Given the description of an element on the screen output the (x, y) to click on. 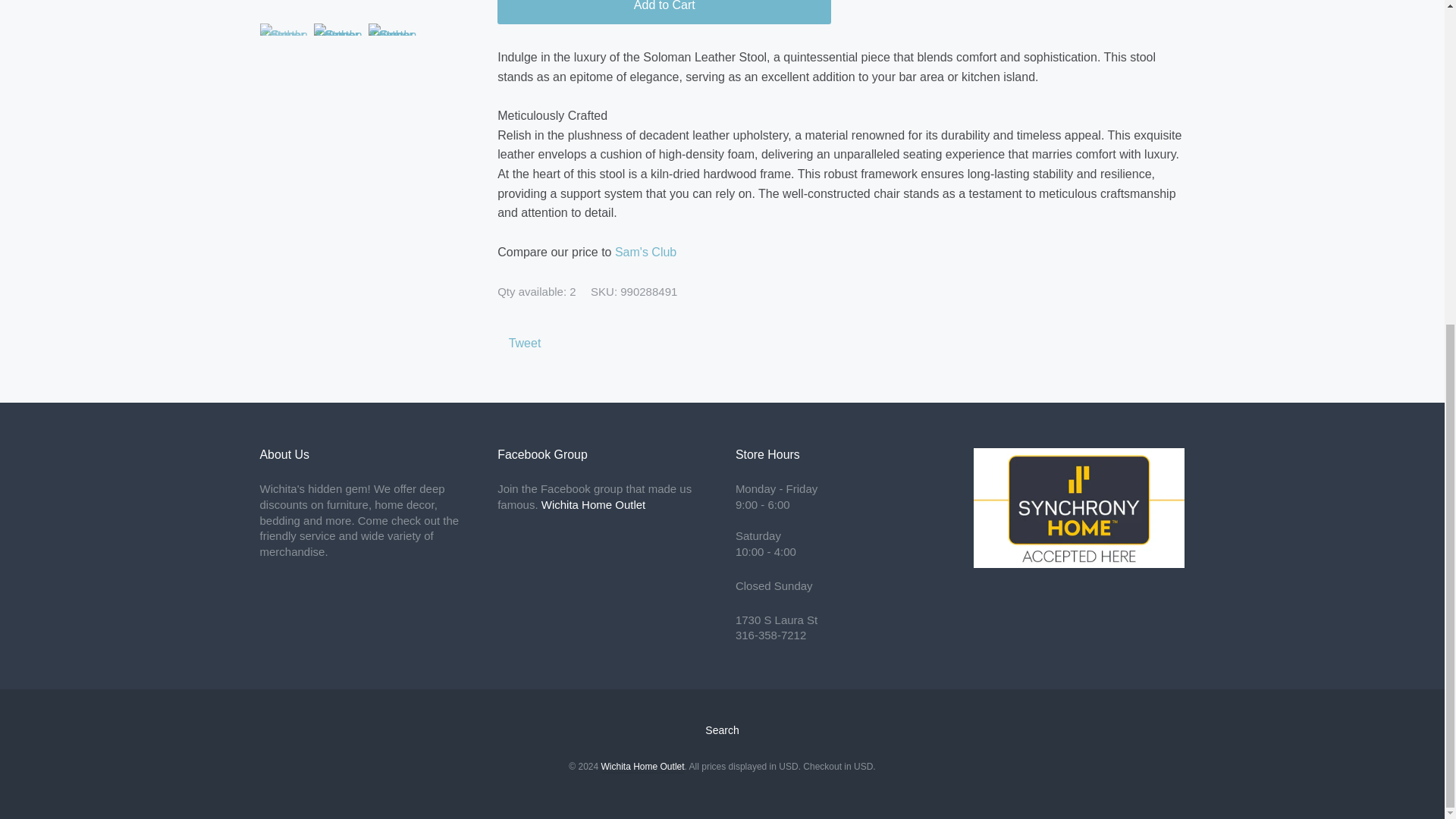
Soloman Gray Leather Counter Stool (283, 49)
